Given the description of an element on the screen output the (x, y) to click on. 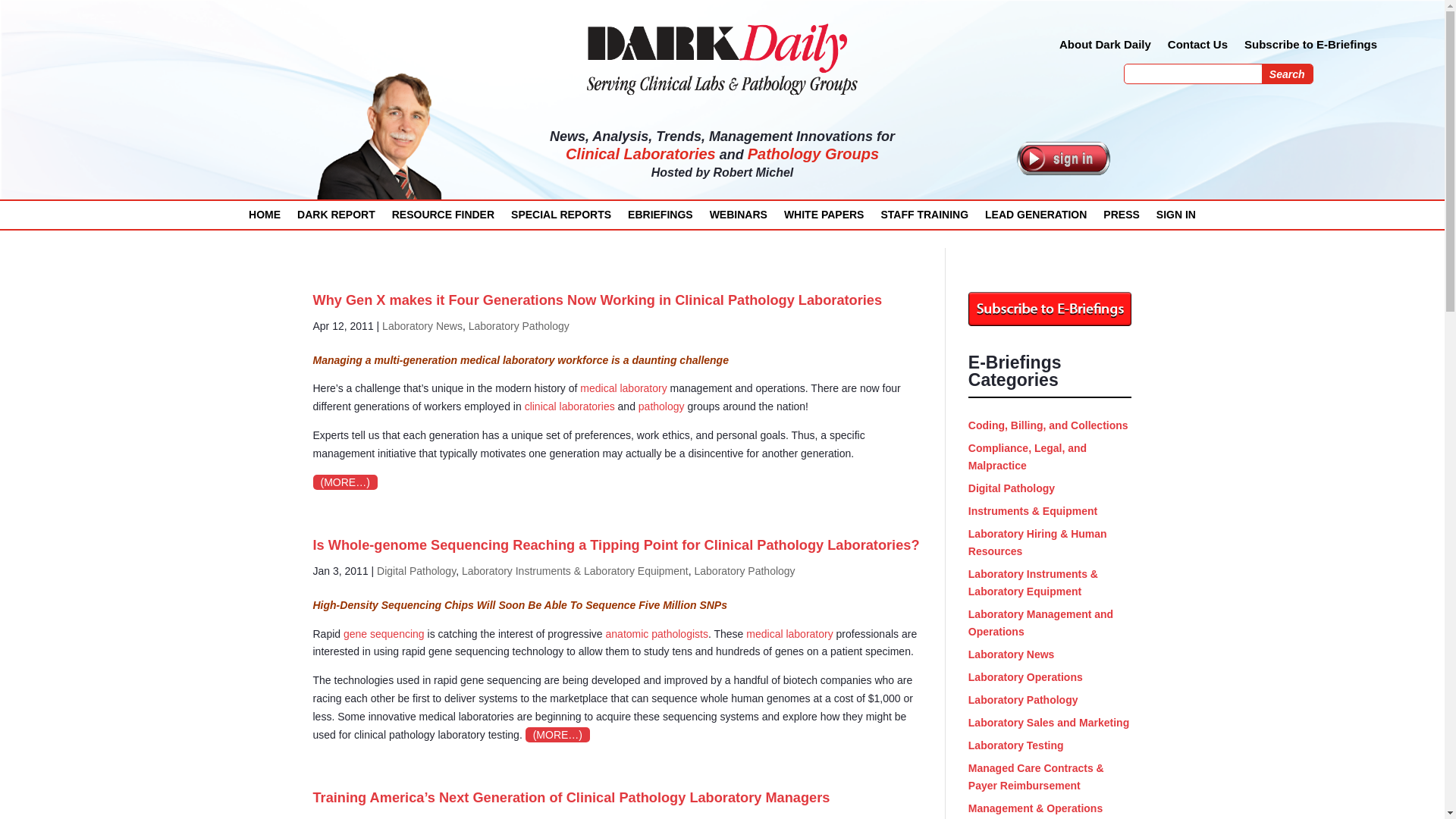
WEBINARS (738, 217)
dark-daily-serving-clinical-labs (722, 58)
PRESS (1120, 217)
sign-in-for-dark-daily (1063, 158)
Laboratory News (422, 326)
WHITE PAPERS (824, 217)
Search (1287, 73)
Contact Us (1197, 47)
